Given the description of an element on the screen output the (x, y) to click on. 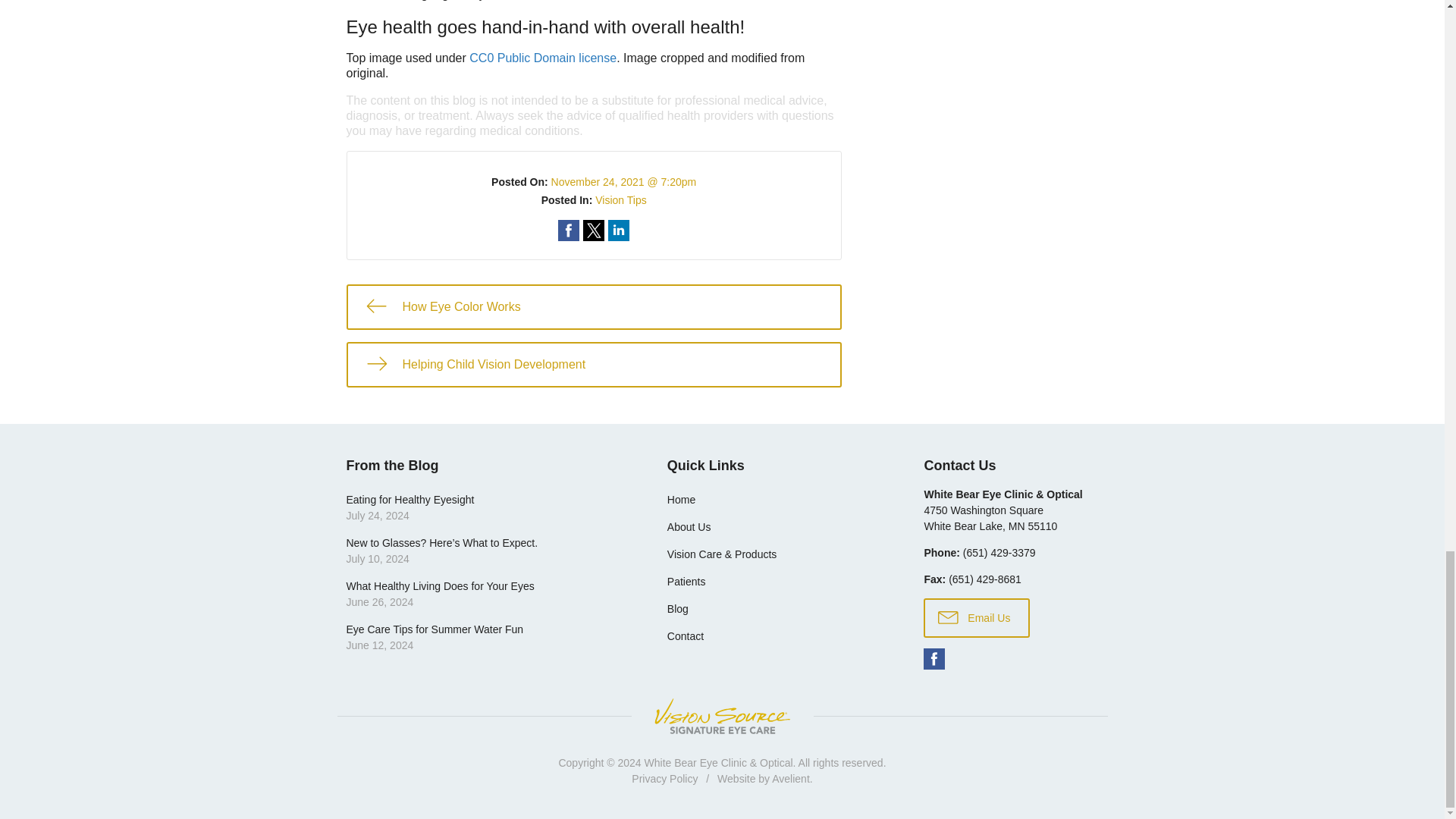
Powered by Avelient (790, 777)
Share on LinkedIn (618, 230)
How Eye Color Works (593, 307)
Share on LinkedIn (618, 230)
Share on Facebook (568, 230)
Share on Twitter (593, 230)
Contact practice (998, 551)
CC0 Public Domain license (541, 57)
Open this address in Google Maps (990, 517)
Go to our Facebook Page (933, 658)
Helping Child Vision Development (593, 364)
Vision Tips (620, 200)
Share on Facebook (568, 230)
Share on Twitter (593, 230)
